Given the description of an element on the screen output the (x, y) to click on. 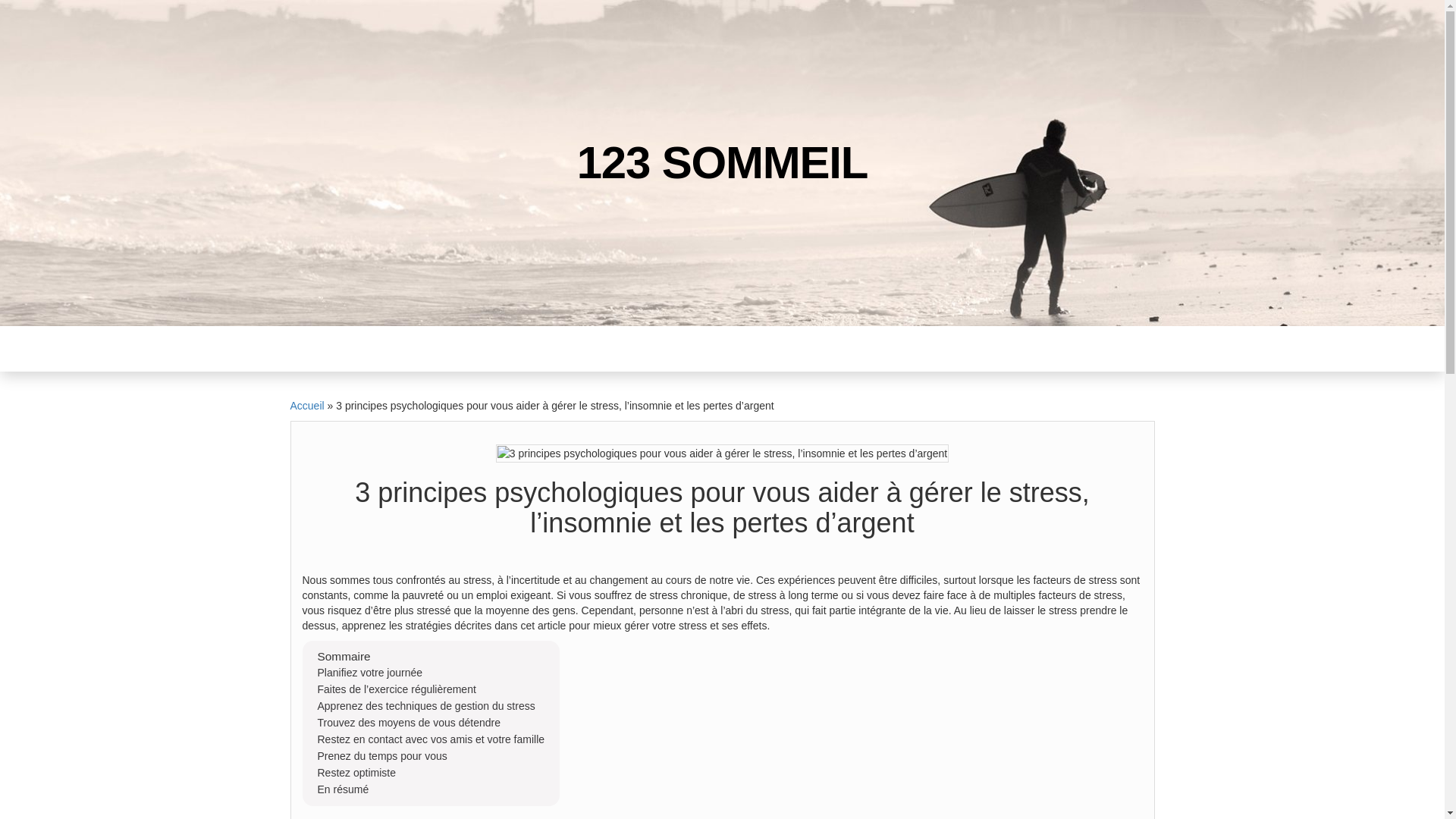
Accueil Element type: text (306, 405)
123 SOMMEIL Element type: text (722, 162)
Restez optimiste Element type: text (430, 772)
Prenez du temps pour vous Element type: text (430, 755)
Restez en contact avec vos amis et votre famille Element type: text (430, 738)
Apprenez des techniques de gestion du stress Element type: text (430, 705)
